Given the description of an element on the screen output the (x, y) to click on. 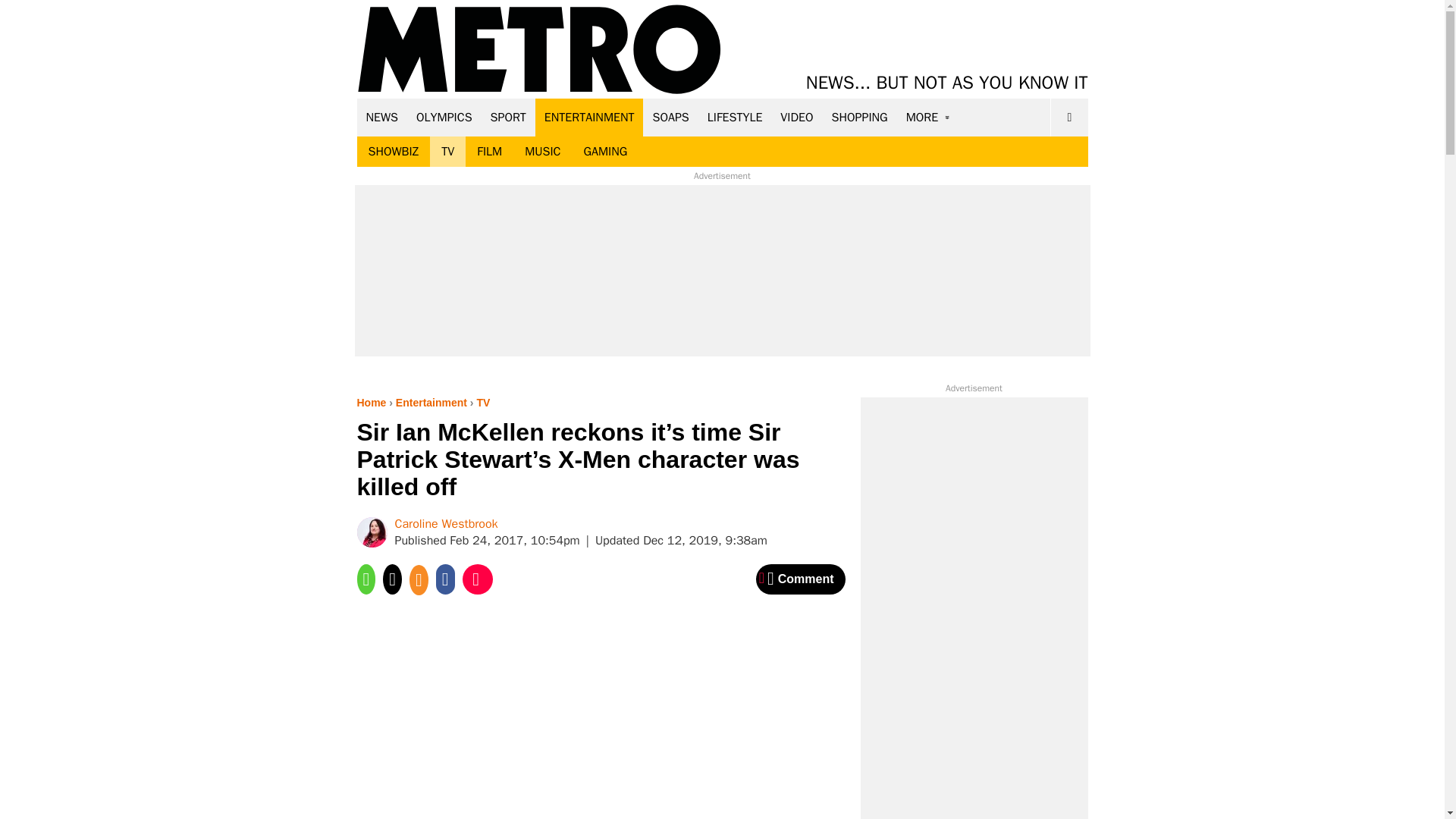
FILM (489, 151)
LIFESTYLE (734, 117)
SHOWBIZ (392, 151)
GAMING (605, 151)
ENTERTAINMENT (589, 117)
SOAPS (670, 117)
MUSIC (542, 151)
OLYMPICS (444, 117)
TV (447, 151)
NEWS (381, 117)
